Given the description of an element on the screen output the (x, y) to click on. 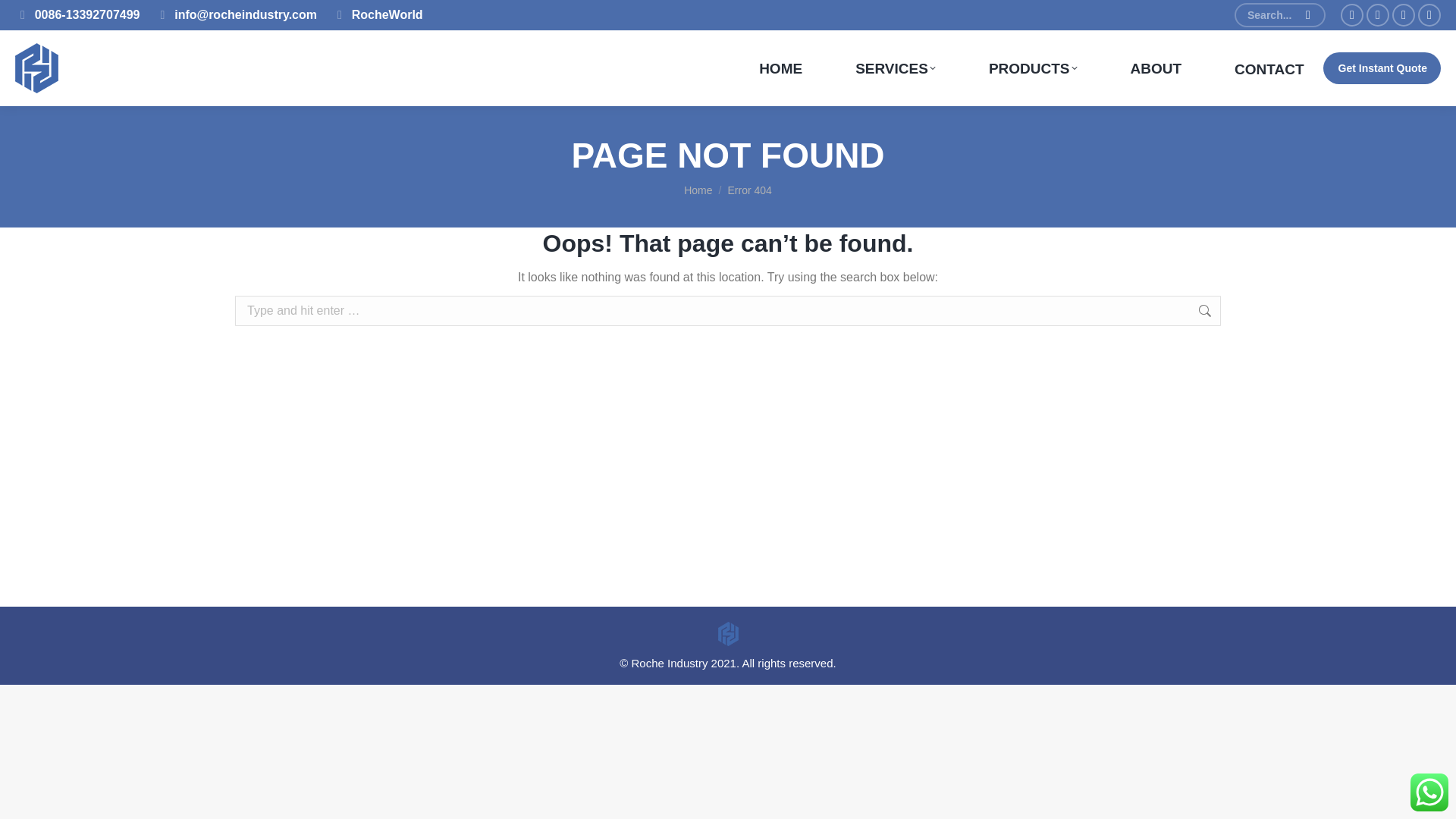
SERVICES (895, 68)
CONTACT (1268, 68)
Facebook page opens in new window (1351, 15)
Facebook page opens in new window (1351, 15)
Linkedin page opens in new window (1429, 15)
Pinterest page opens in new window (1403, 15)
Linkedin page opens in new window (1429, 15)
Twitter page opens in new window (1378, 15)
Go! (32, 16)
Get Instant Quote (1382, 68)
